Given the description of an element on the screen output the (x, y) to click on. 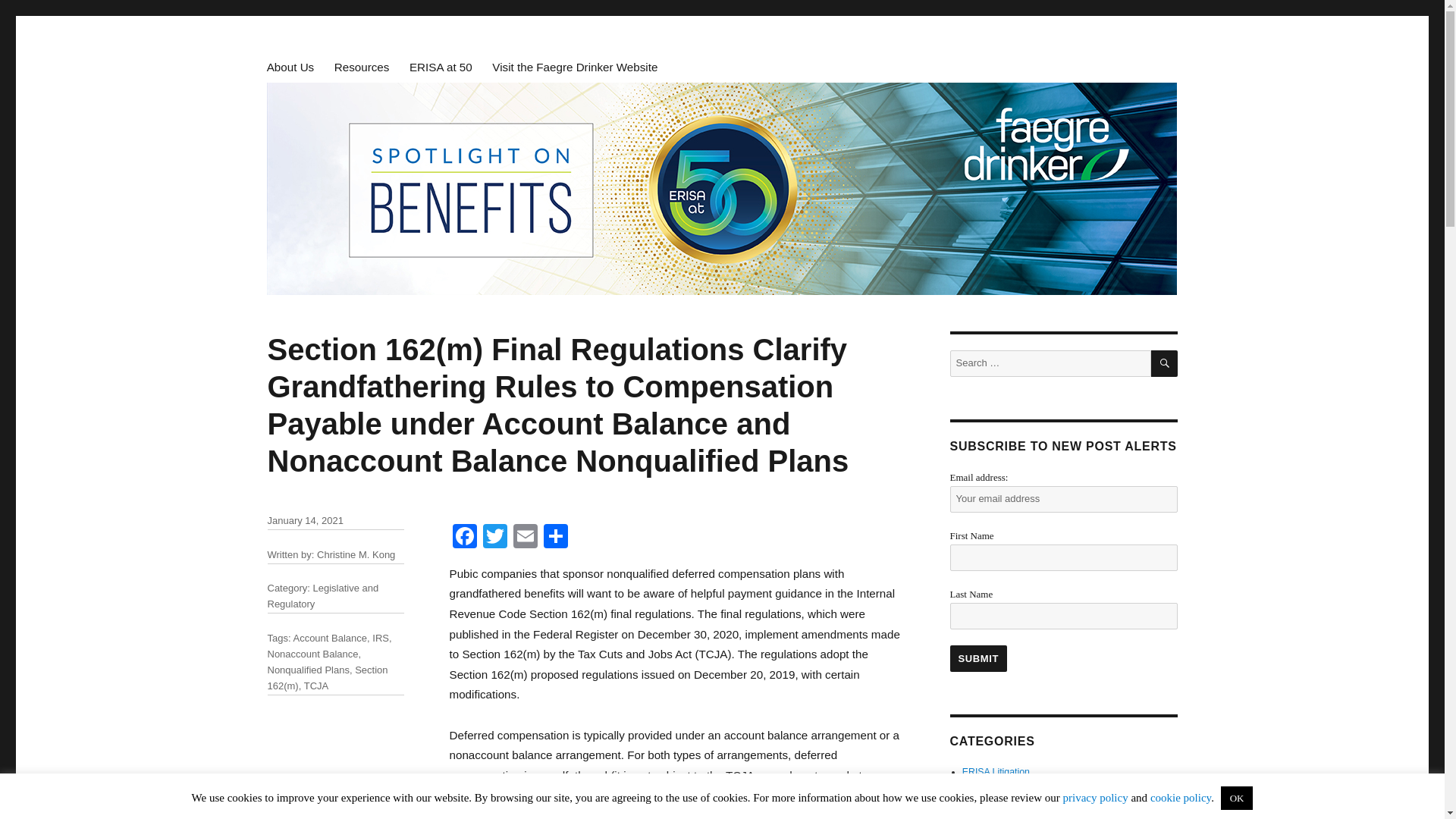
Twitter (494, 538)
TCJA (316, 685)
Facebook (463, 538)
Facebook (463, 538)
Twitter (494, 538)
IRS (380, 637)
About Us (289, 67)
Nonqualified Plans (307, 669)
ESOPs (977, 786)
Legislative and Regulatory (322, 595)
Posts by Christine M. Kong (355, 554)
Email (524, 538)
Email (524, 538)
submit (978, 658)
Account Balance (329, 637)
